Given the description of an element on the screen output the (x, y) to click on. 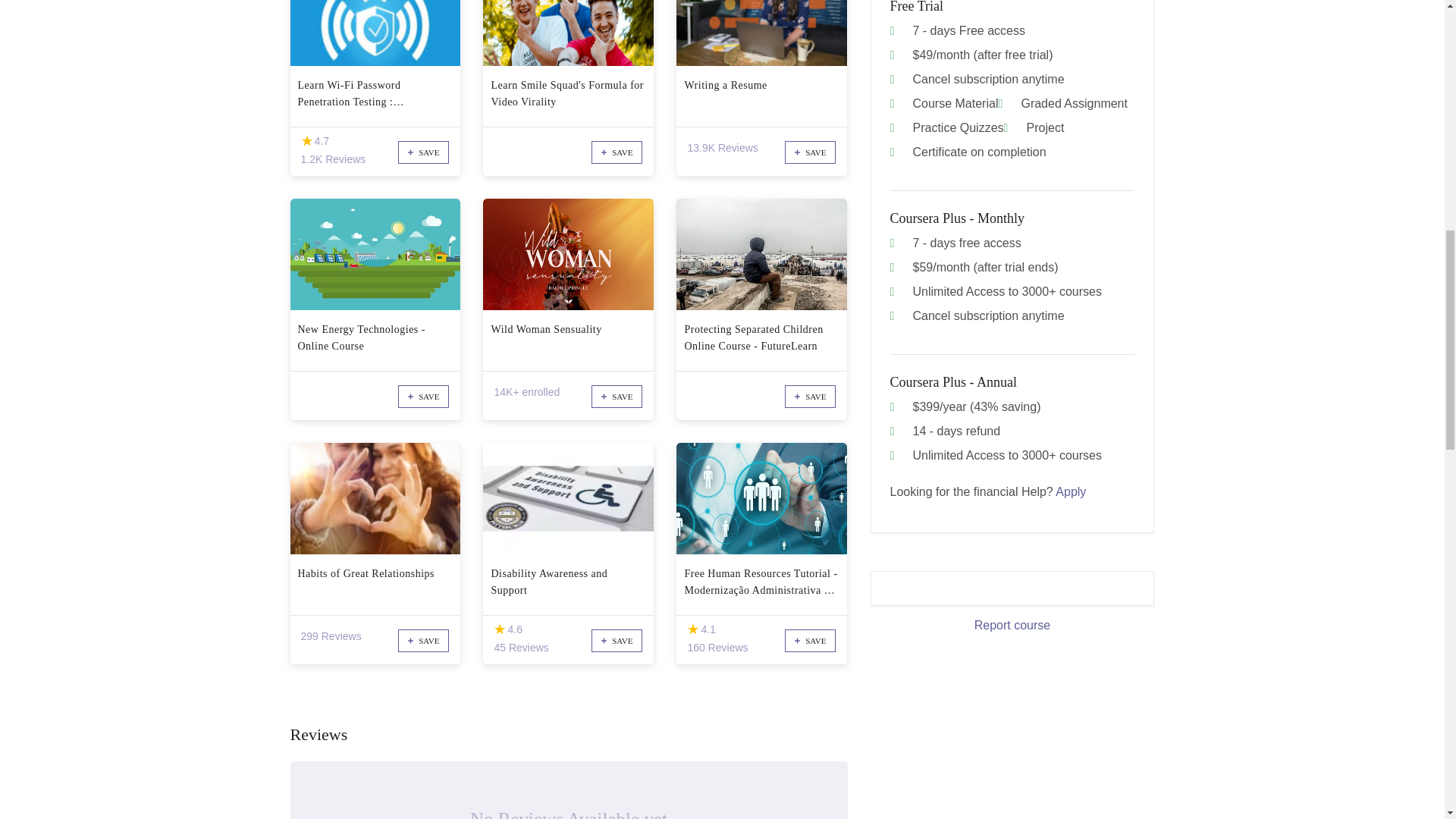
4.7 (306, 141)
4.1 (692, 629)
4.6 (499, 629)
